Given the description of an element on the screen output the (x, y) to click on. 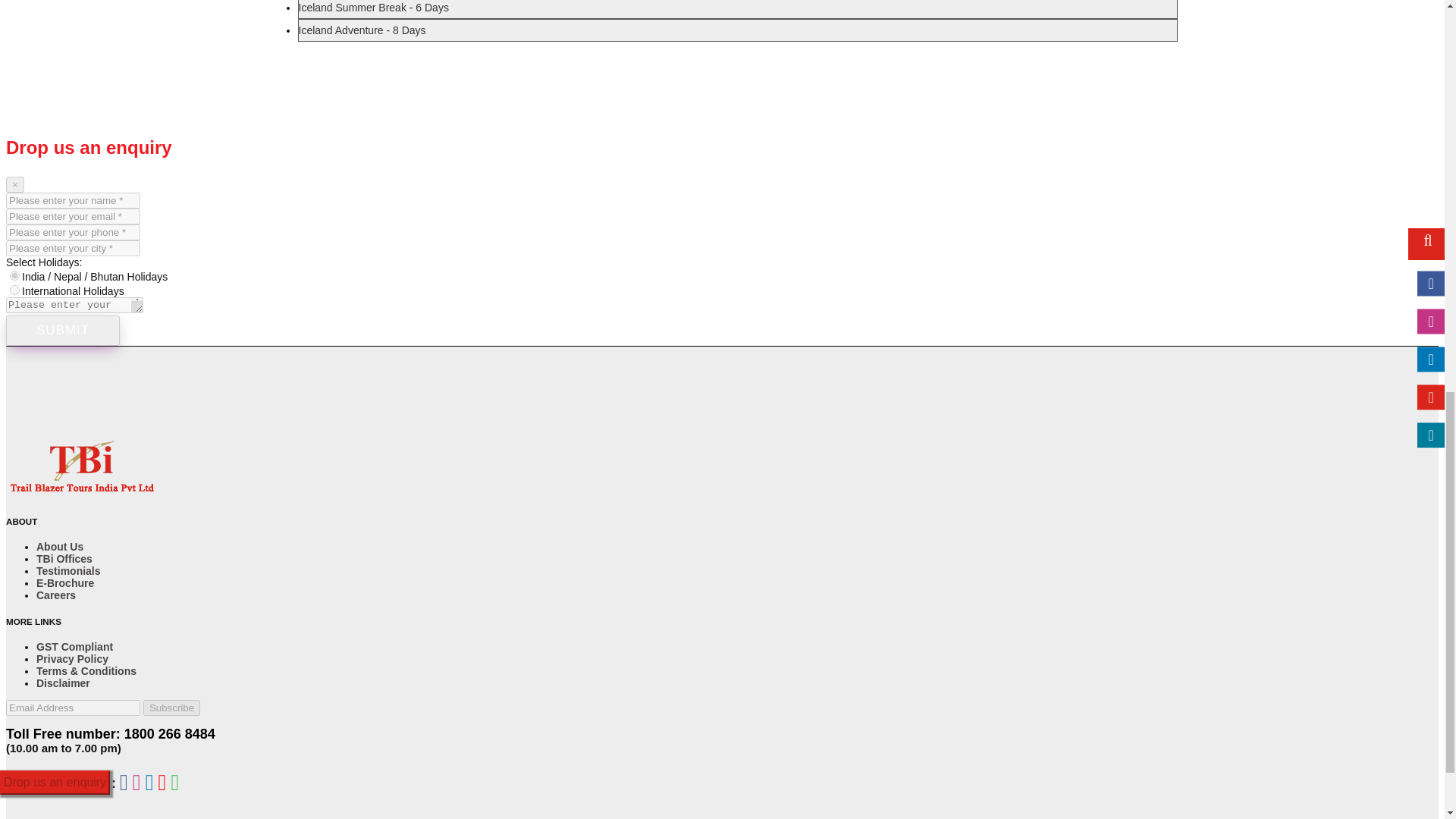
International (15, 289)
SUBMIT (62, 330)
Careers (55, 594)
GST Compliant (74, 646)
About Us (59, 546)
TBi Offices (64, 558)
E-Brochure (65, 582)
Testimonials (68, 571)
Disclaimer (63, 683)
Privacy Policy (71, 658)
India (15, 275)
